Given the description of an element on the screen output the (x, y) to click on. 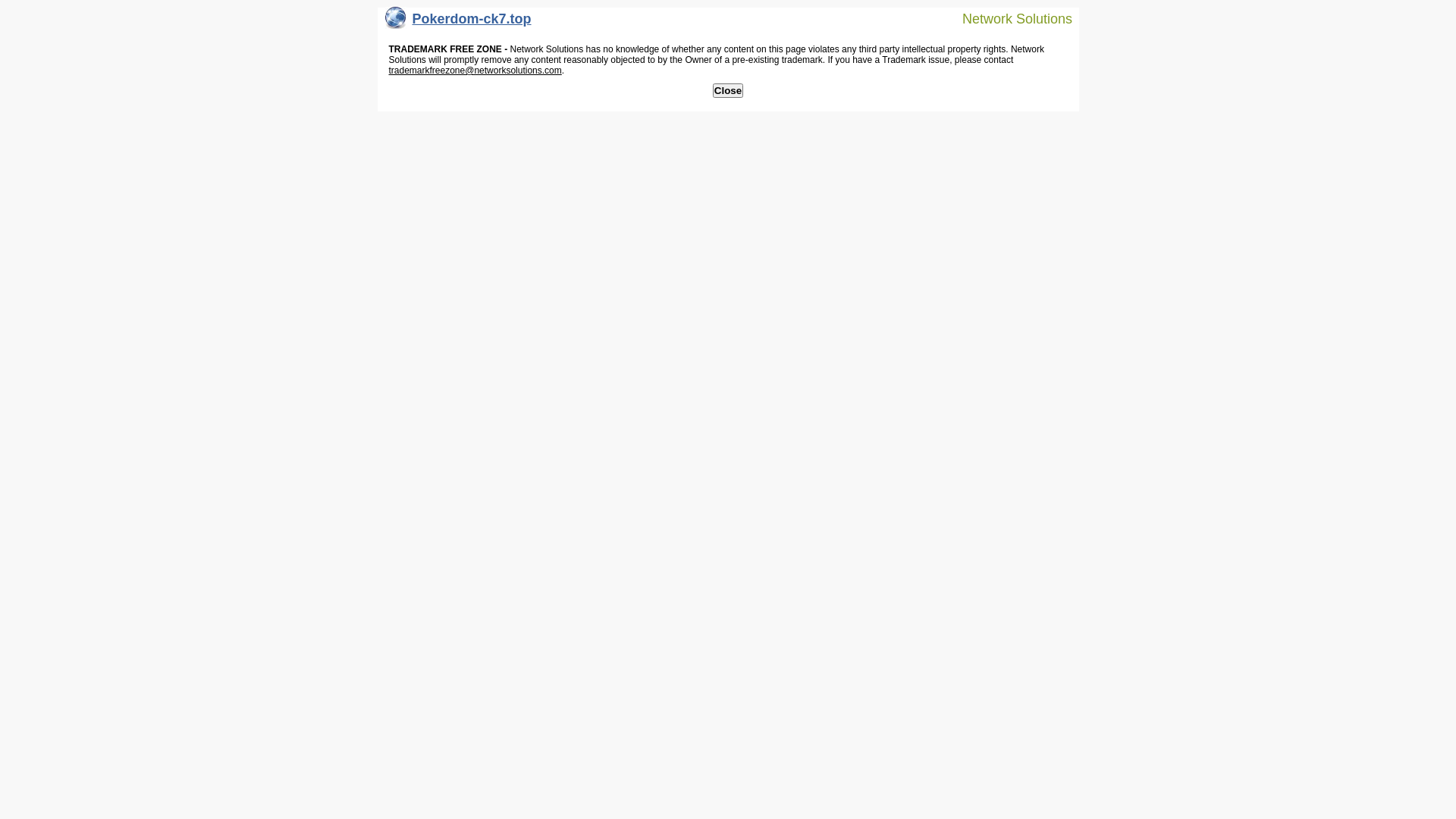
Network Solutions Element type: text (1007, 17)
Pokerdom-ck7.top Element type: text (458, 21)
Close Element type: text (727, 90)
trademarkfreezone@networksolutions.com Element type: text (474, 70)
